Given the description of an element on the screen output the (x, y) to click on. 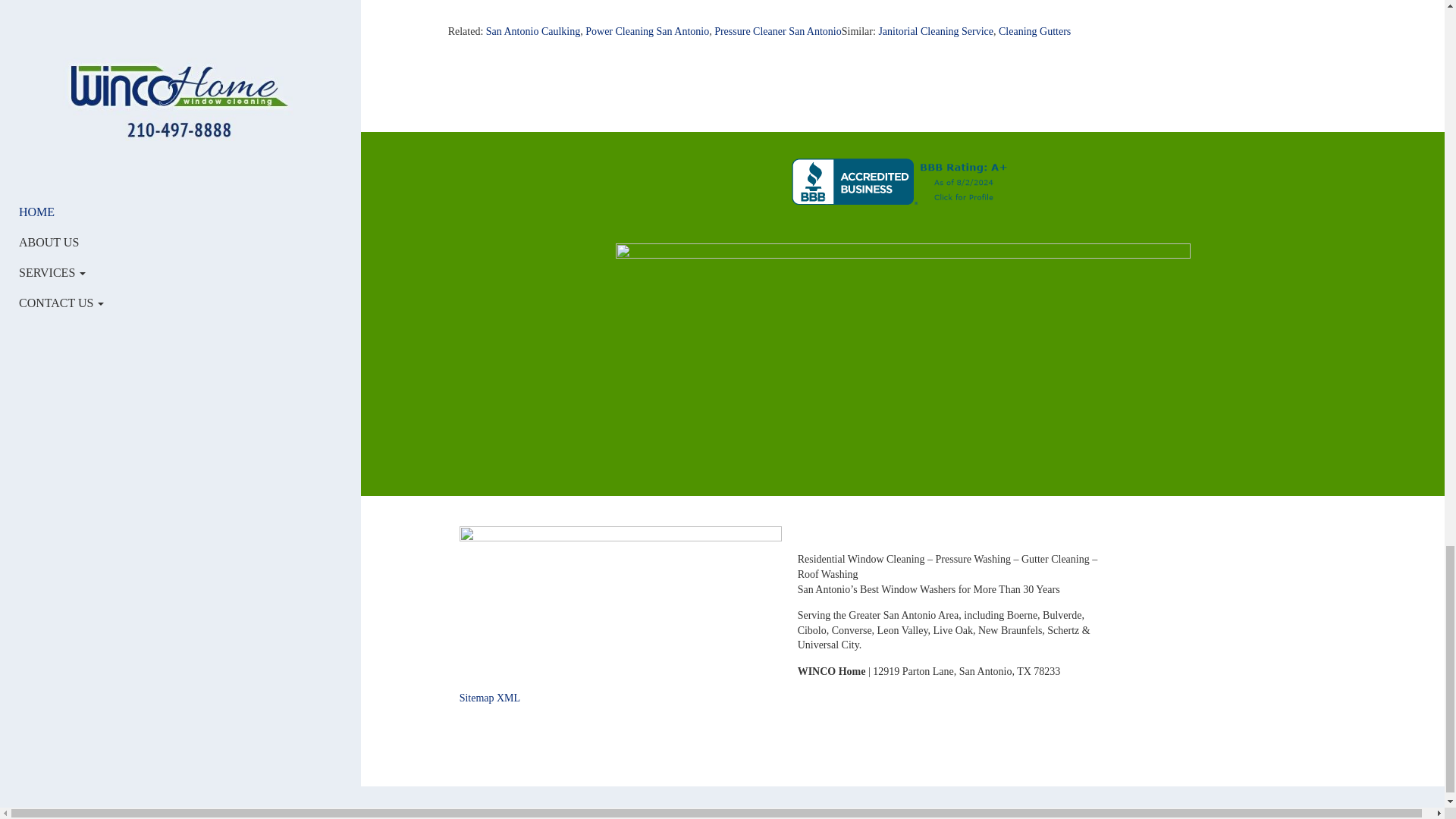
Power Cleaning San Antonio (647, 30)
Pressure Cleaner San Antonio (777, 30)
Sitemap XML (490, 697)
Winco of South Texas BBB Business Review (902, 180)
Janitorial Cleaning Service (934, 30)
San Antonio Caulking (532, 30)
Cleaning Gutters (1034, 30)
